Given the description of an element on the screen output the (x, y) to click on. 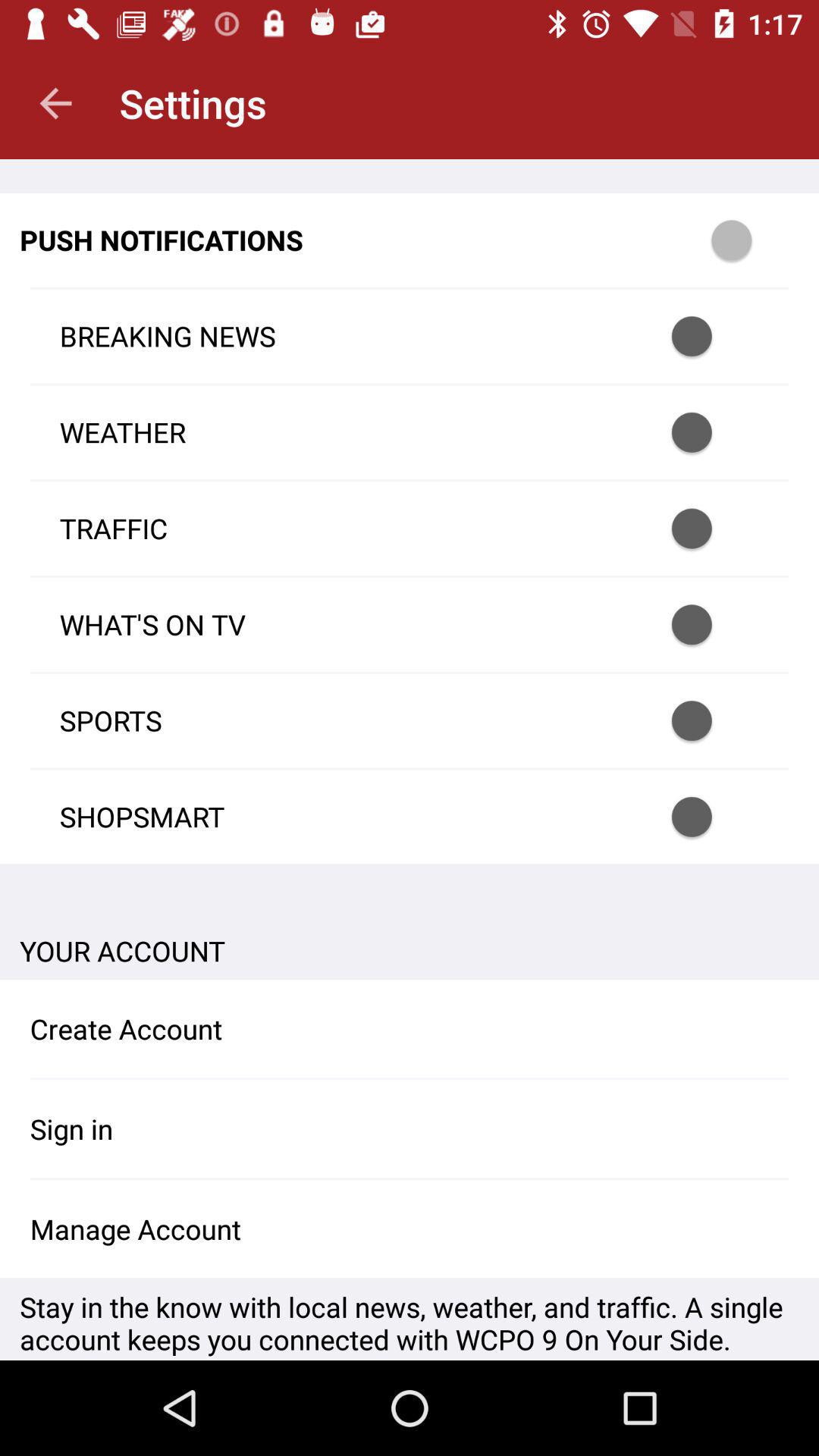
toggle push notification (711, 432)
